Given the description of an element on the screen output the (x, y) to click on. 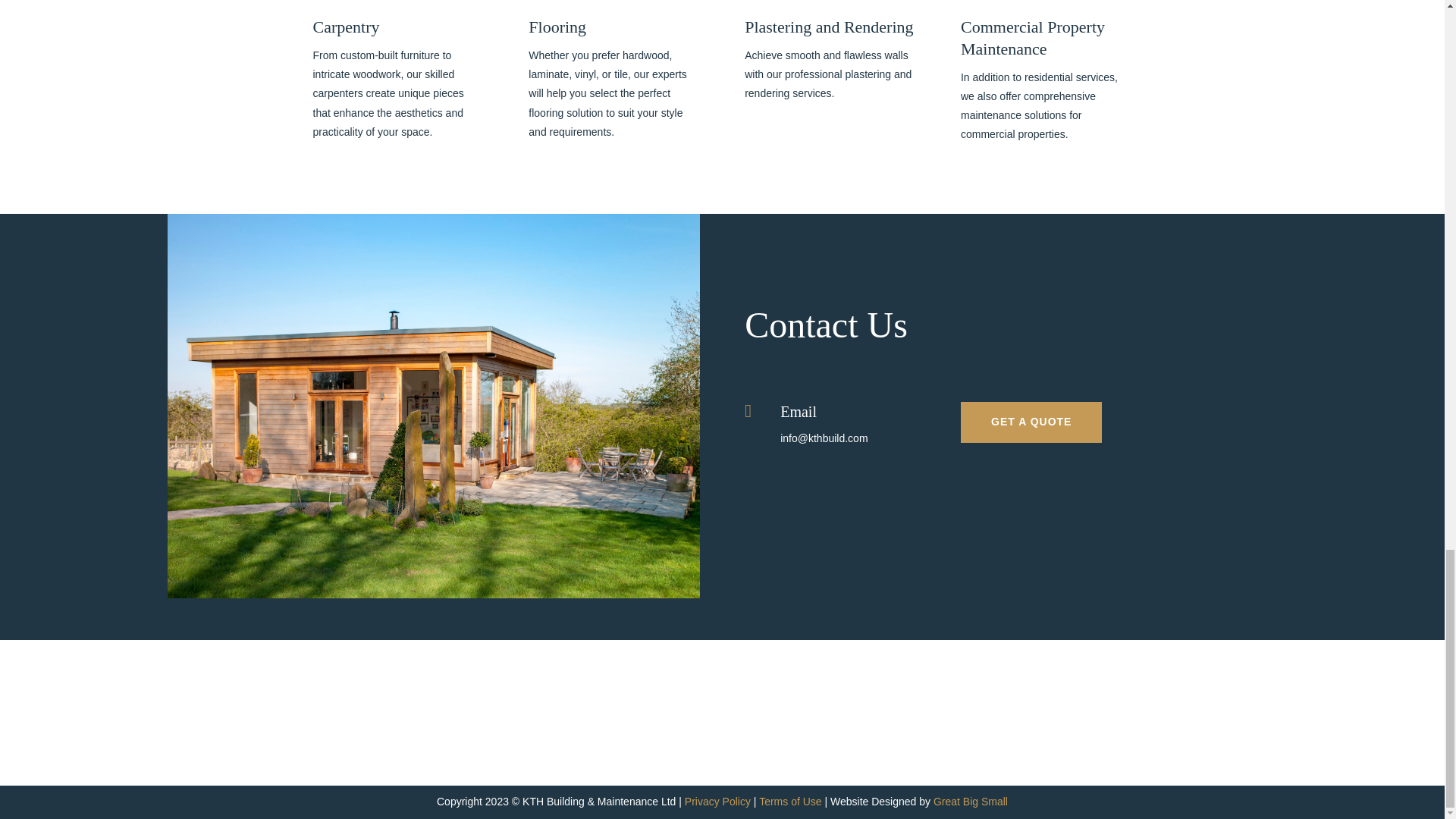
GET A QUOTE (1031, 422)
